Given the description of an element on the screen output the (x, y) to click on. 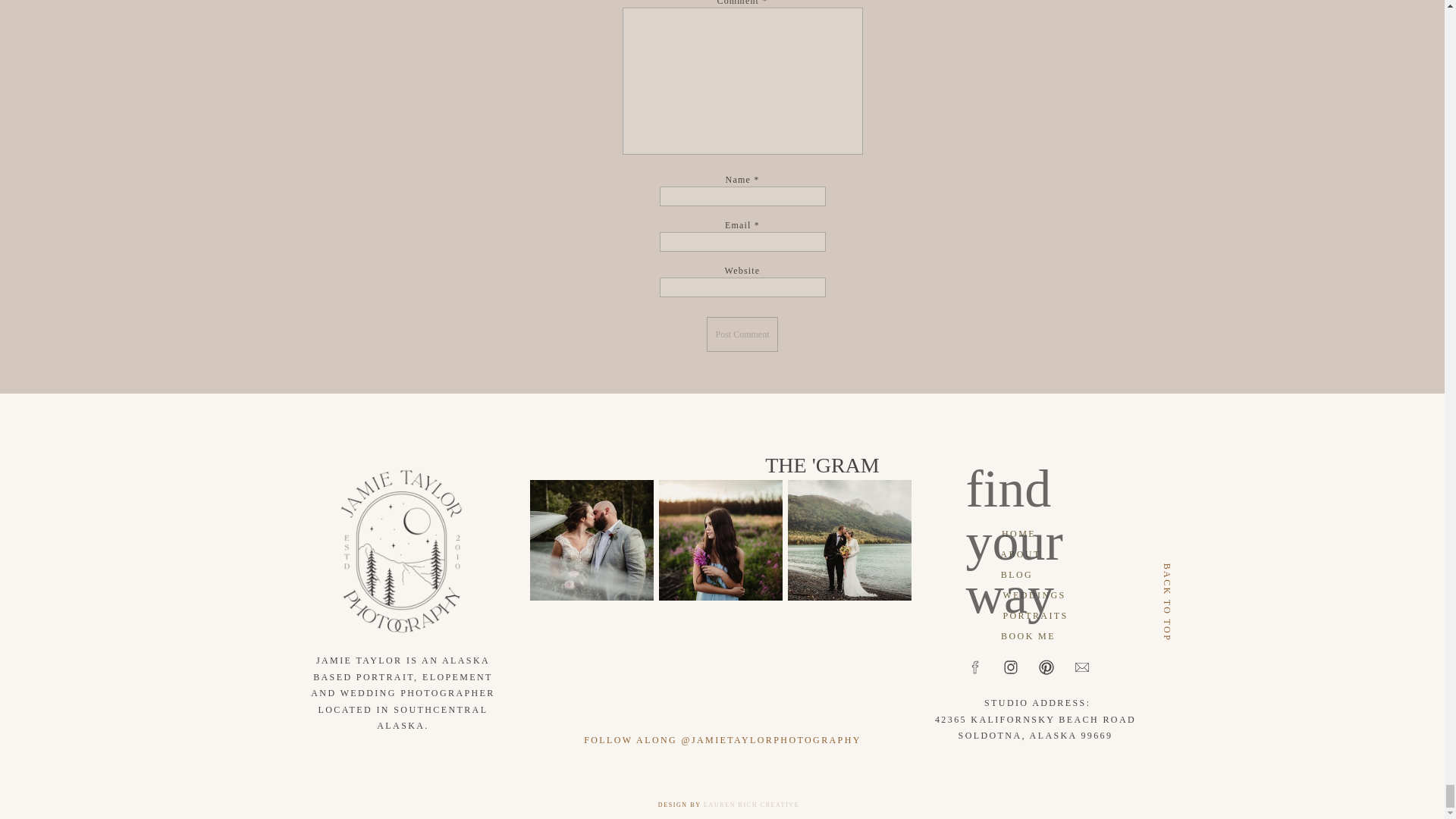
PORTRAITS (1035, 615)
HOME (1018, 533)
Post Comment (741, 334)
WEDDINGS (1034, 594)
BLOG (1016, 574)
Post Comment (741, 334)
BACK TO TOP (1202, 565)
LAUREN RICH CREATIVE (751, 804)
ABOUT (1020, 554)
BOOK ME (1028, 635)
